Given the description of an element on the screen output the (x, y) to click on. 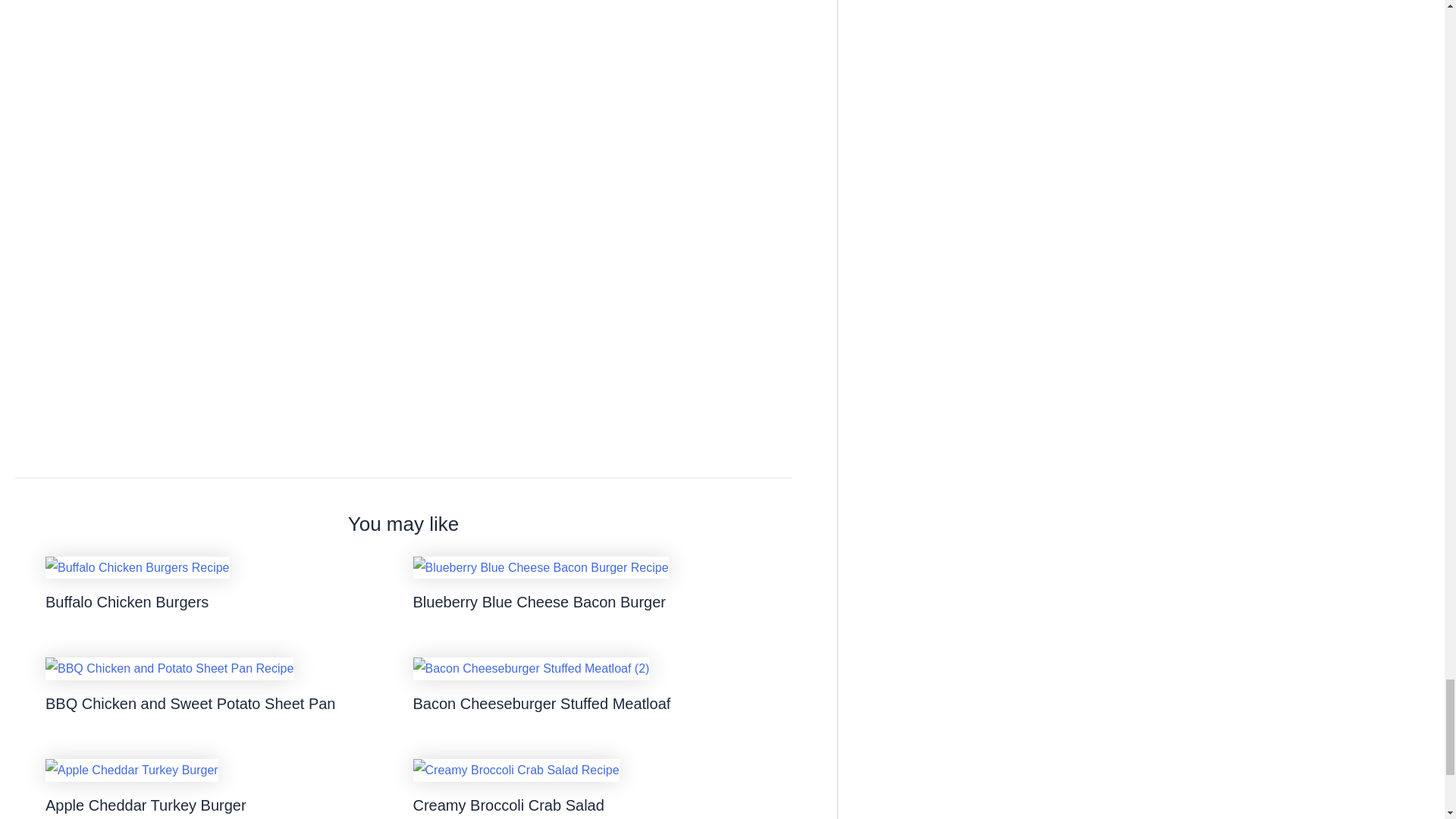
Blueberry Blue Cheese Bacon Burger (538, 601)
Buffalo Chicken Burgers (126, 601)
BBQ Chicken and Sweet Potato Sheet Pan (189, 703)
